Given the description of an element on the screen output the (x, y) to click on. 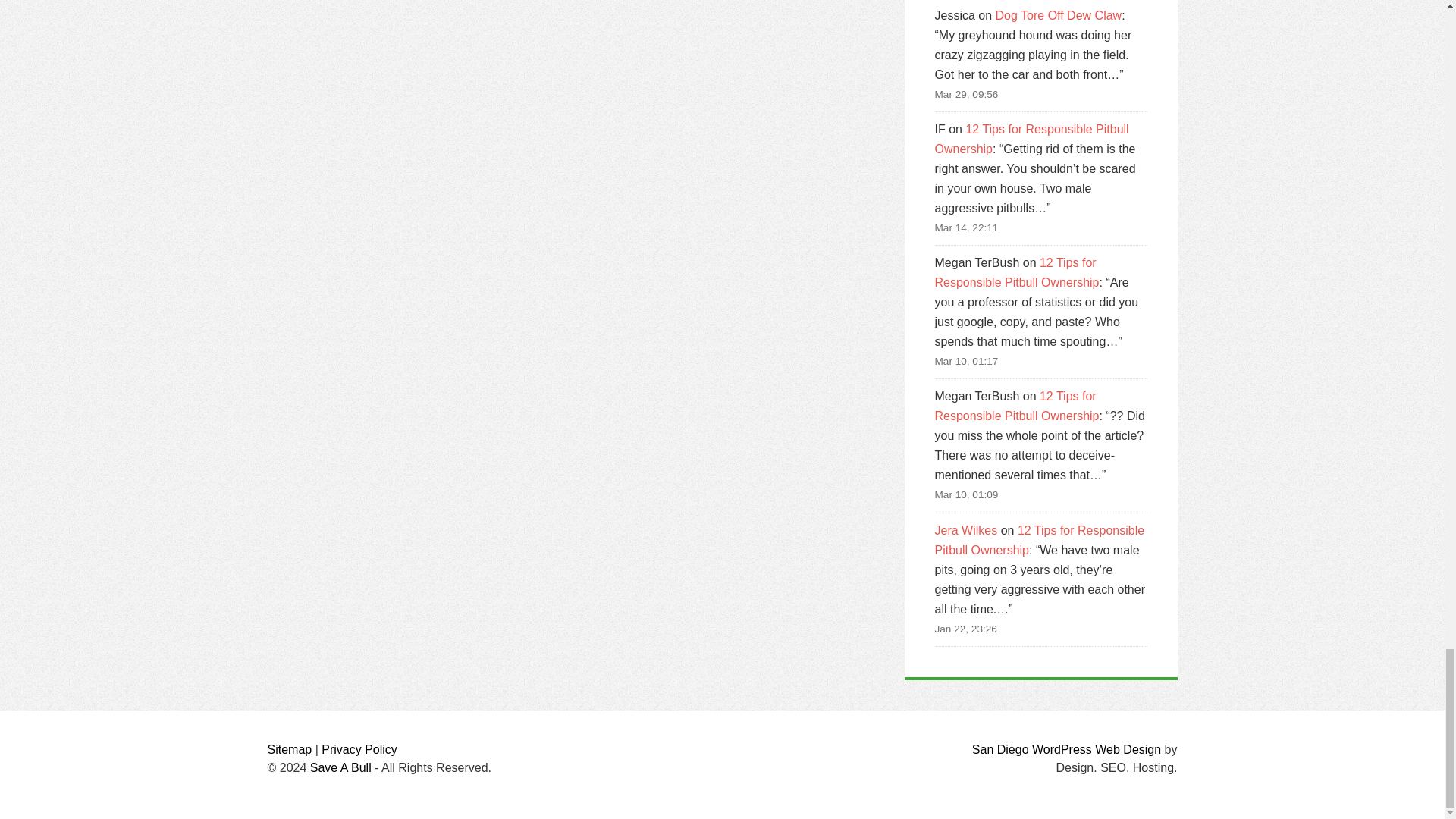
Sitemap (288, 748)
Privacy Policy (359, 748)
Pitbull Awareness (340, 767)
San Diego WordPress Web Design (1066, 748)
